Given the description of an element on the screen output the (x, y) to click on. 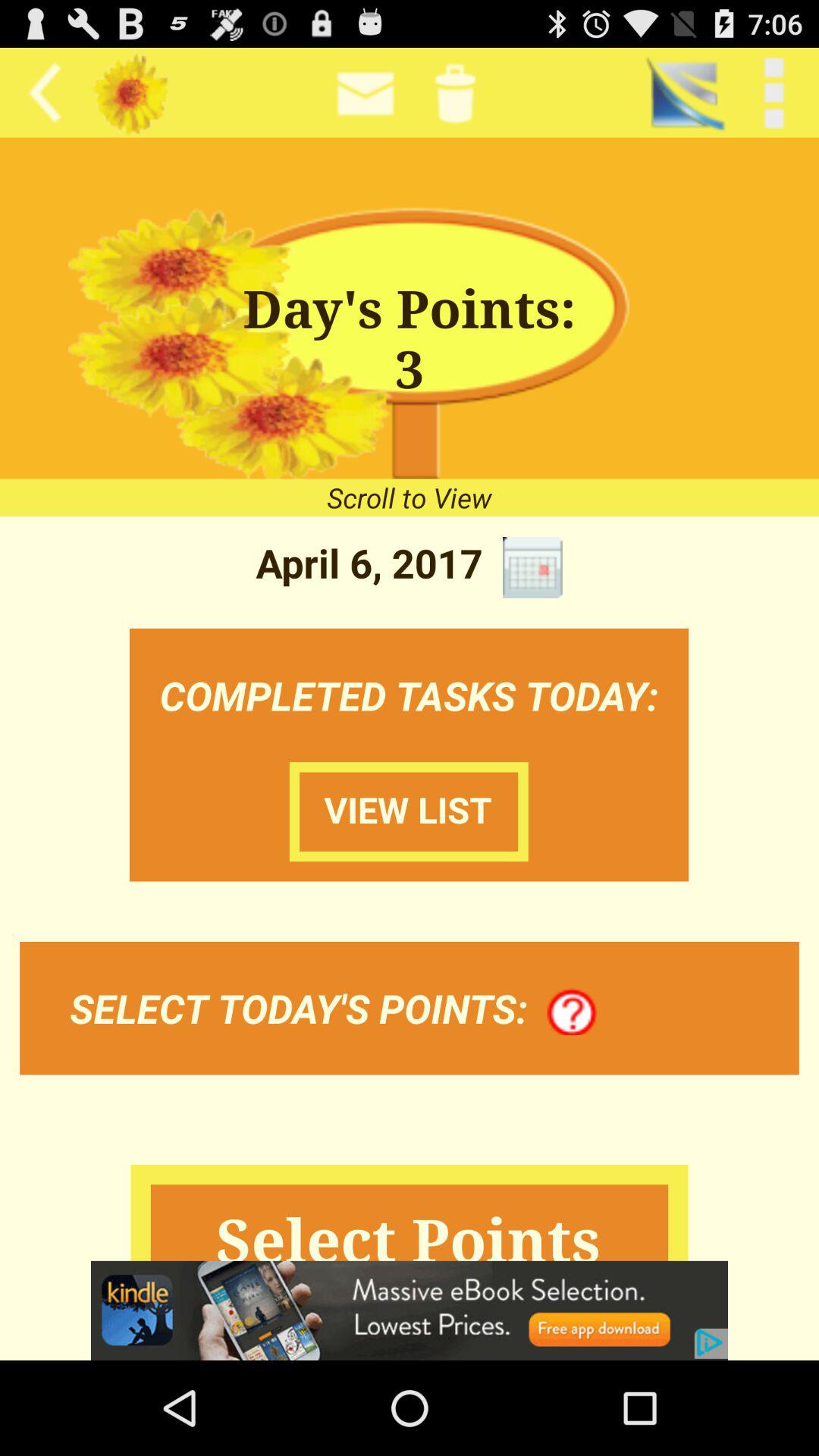
this button is used to open the calender (532, 567)
